Given the description of an element on the screen output the (x, y) to click on. 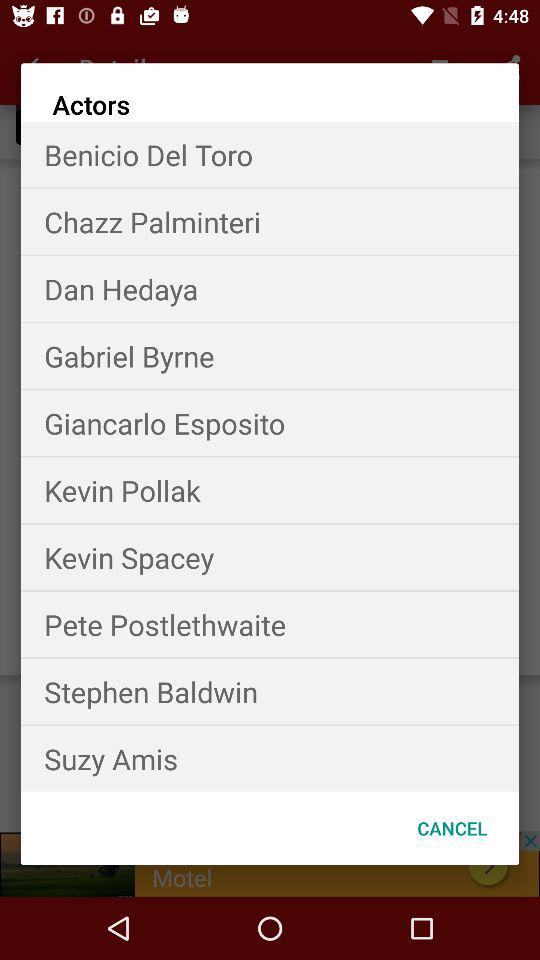
select the    suzy amis (269, 758)
